Given the description of an element on the screen output the (x, y) to click on. 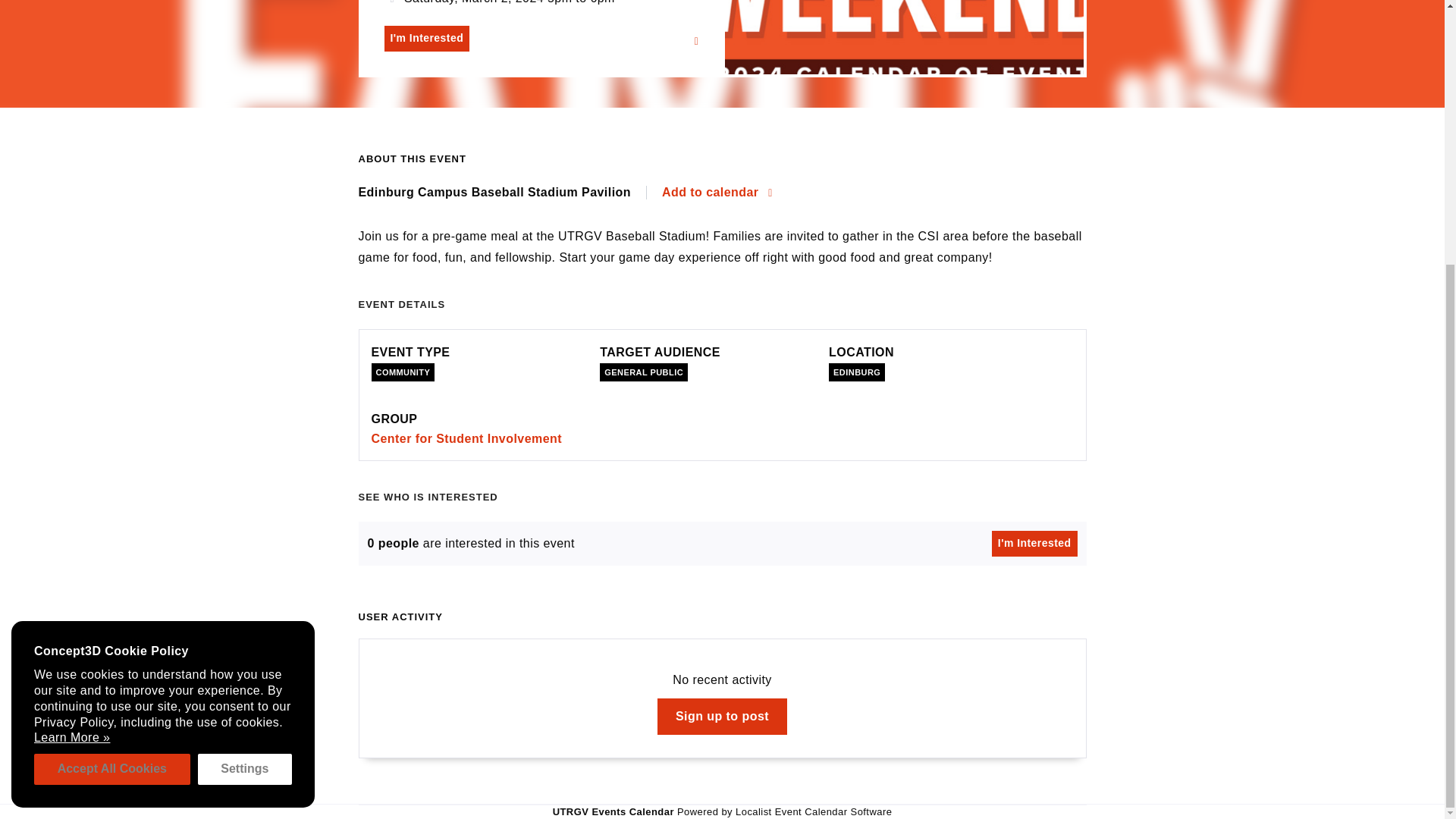
Sign up to post (722, 716)
Add to calendar (717, 192)
I'm Interested (426, 38)
I'm Interested (1034, 543)
COMMUNITY (403, 372)
GENERAL PUBLIC (643, 372)
Share Family Weekend: Game Day Gathering (696, 40)
Center for Student Involvement (466, 438)
EDINBURG (856, 372)
